Given the description of an element on the screen output the (x, y) to click on. 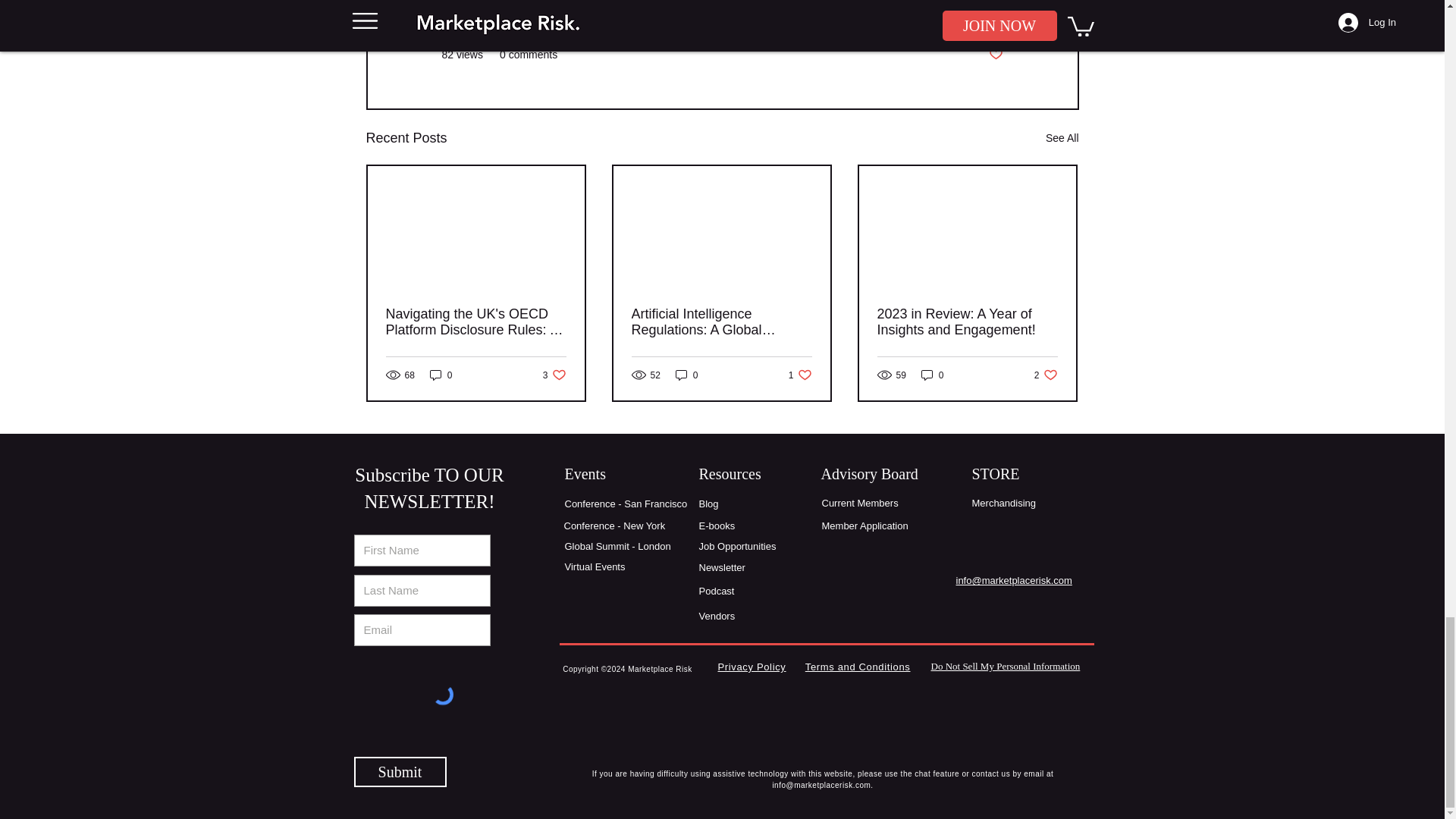
Artificial Intelligence Regulations: A Global Overview (1045, 374)
0 (720, 322)
Post not marked as liked (441, 374)
Conference - New York (995, 54)
Blog (614, 525)
Global Summit - London (554, 374)
Articles (708, 503)
2023 in Review: A Year of Insights and Engagement! (616, 546)
Submit (985, 9)
See All (966, 322)
Job Opportunities (399, 771)
